Given the description of an element on the screen output the (x, y) to click on. 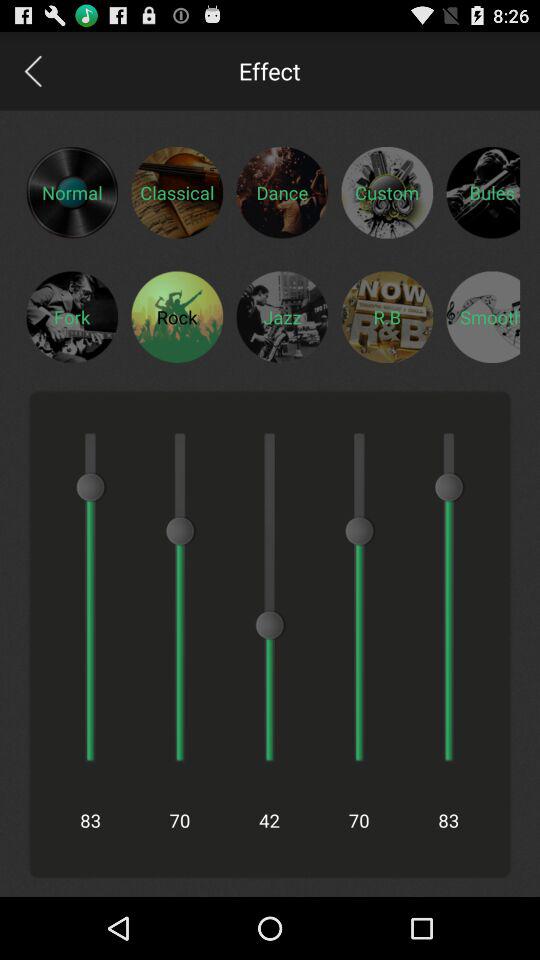
rock (177, 316)
